Given the description of an element on the screen output the (x, y) to click on. 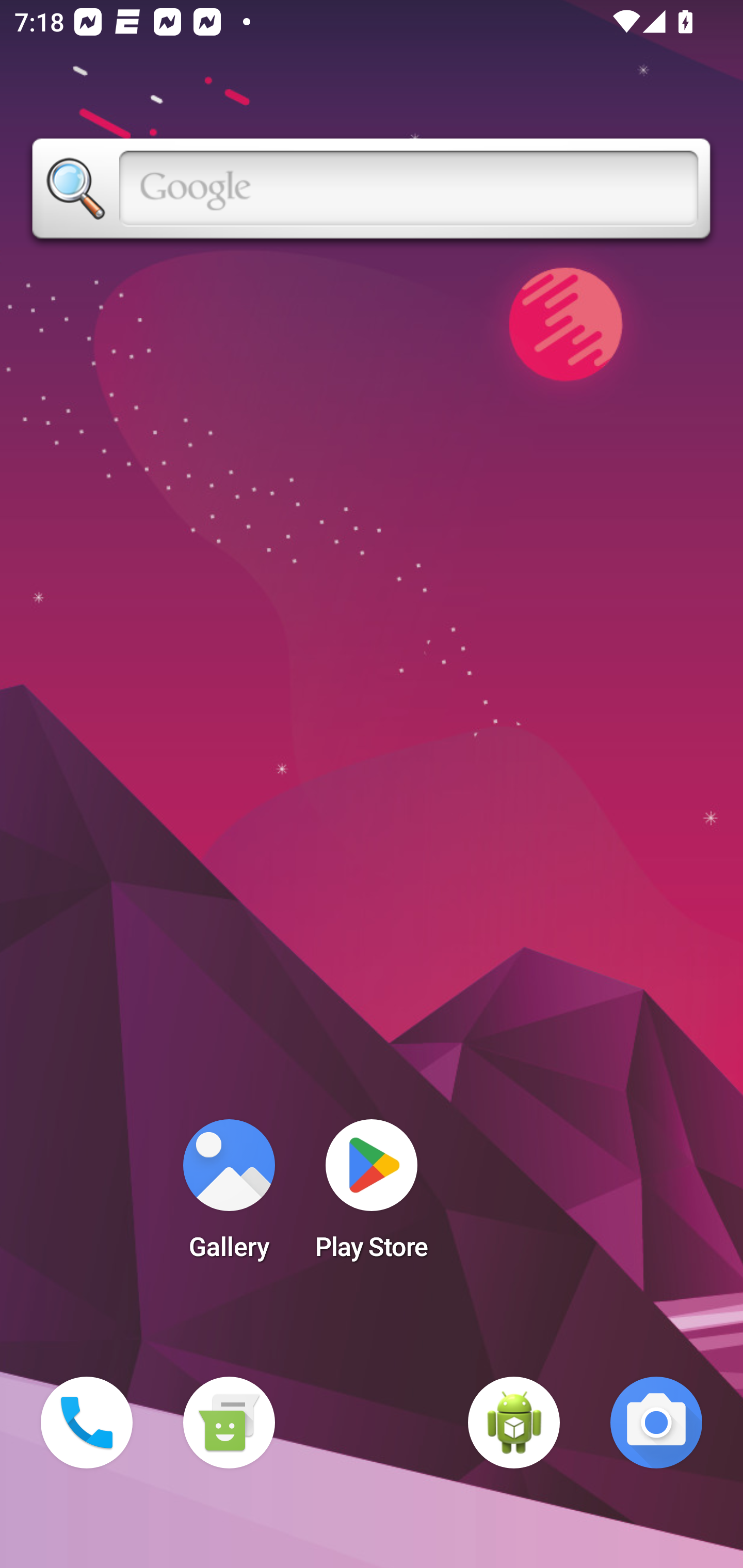
Gallery (228, 1195)
Play Store (371, 1195)
Phone (86, 1422)
Messaging (228, 1422)
WebView Browser Tester (513, 1422)
Camera (656, 1422)
